Given the description of an element on the screen output the (x, y) to click on. 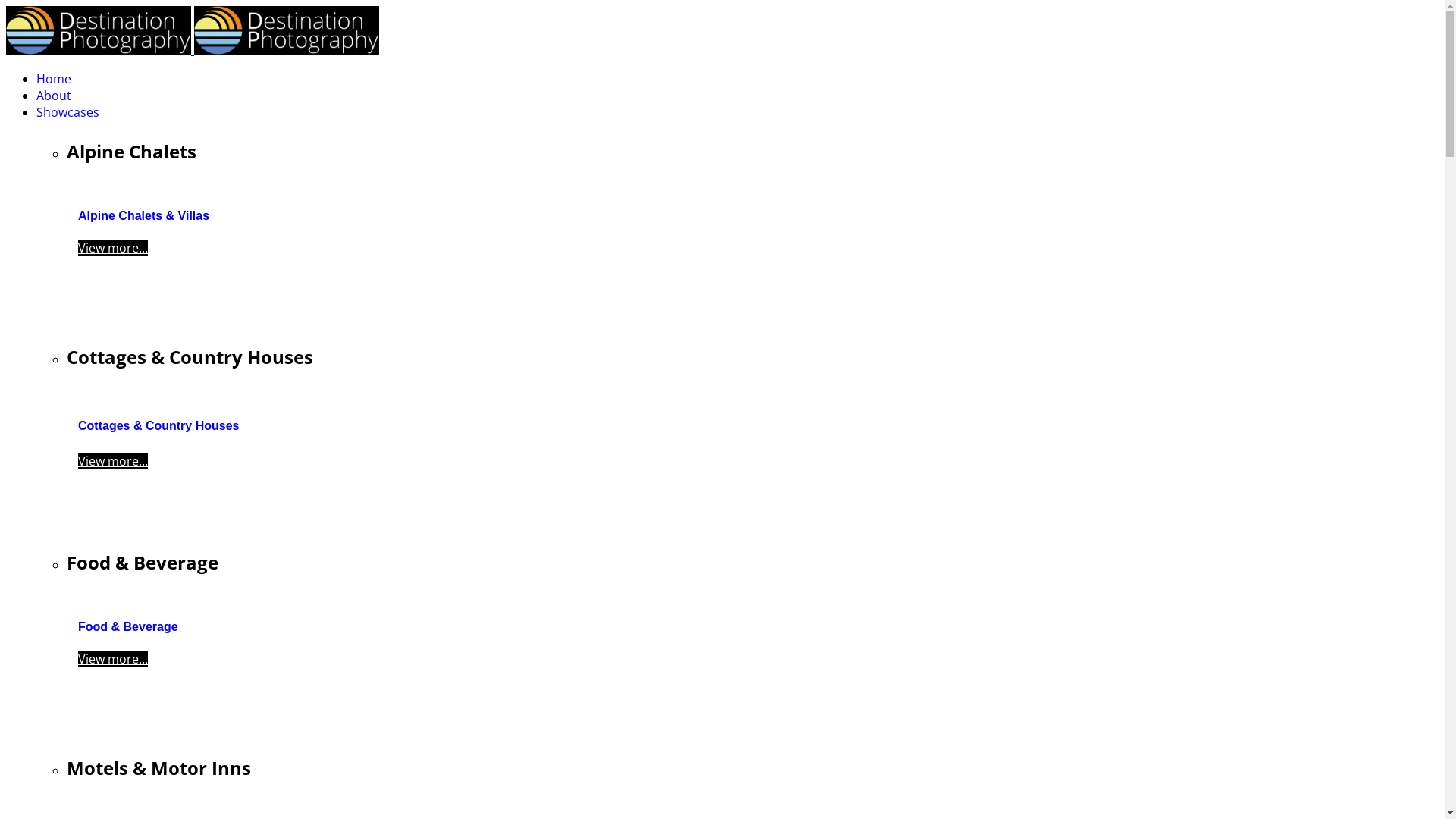
Alpine Chalets & Villas Element type: text (143, 215)
Showcases Element type: text (67, 111)
View more... Element type: text (112, 658)
Cottages & Country Houses Element type: text (158, 425)
View more... Element type: text (112, 247)
Home Element type: text (53, 78)
Food & Beverage Element type: text (128, 626)
View more... Element type: text (112, 460)
About Element type: text (53, 95)
